Given the description of an element on the screen output the (x, y) to click on. 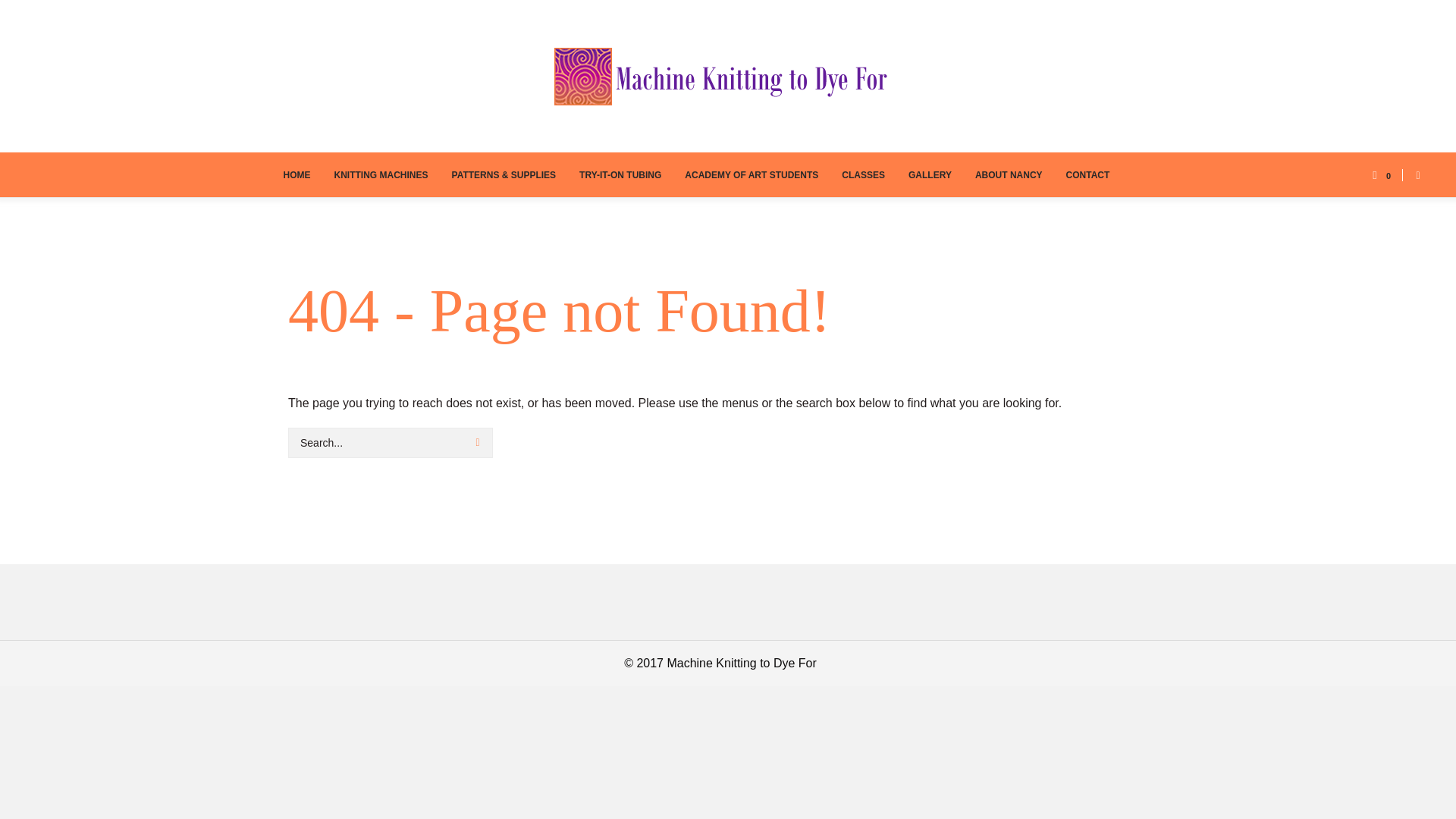
TRY-IT-ON TUBING (619, 174)
ABOUT NANCY (1008, 174)
CLASSES (862, 174)
KNITTING MACHINES (381, 174)
CONTACT (1087, 174)
0 (1378, 174)
ACADEMY OF ART STUDENTS (750, 174)
HOME (296, 174)
GALLERY (929, 174)
